Given the description of an element on the screen output the (x, y) to click on. 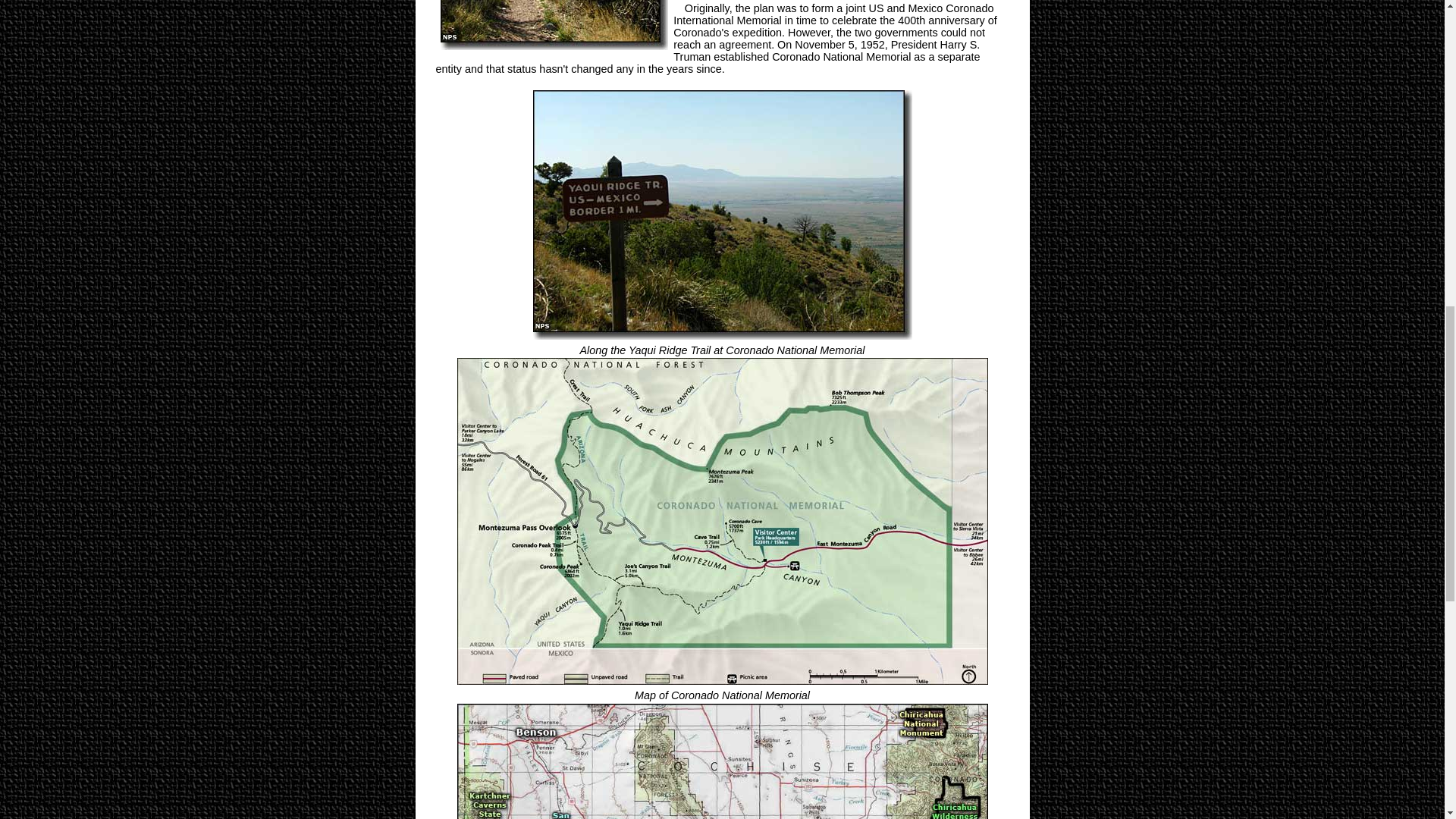
Yaqui Ridge Trail, Coronado National Memorial (722, 214)
Coronado National Memorial area map (722, 760)
Joe's Canyon Trail, Coronado National Memorial (555, 26)
